Given the description of an element on the screen output the (x, y) to click on. 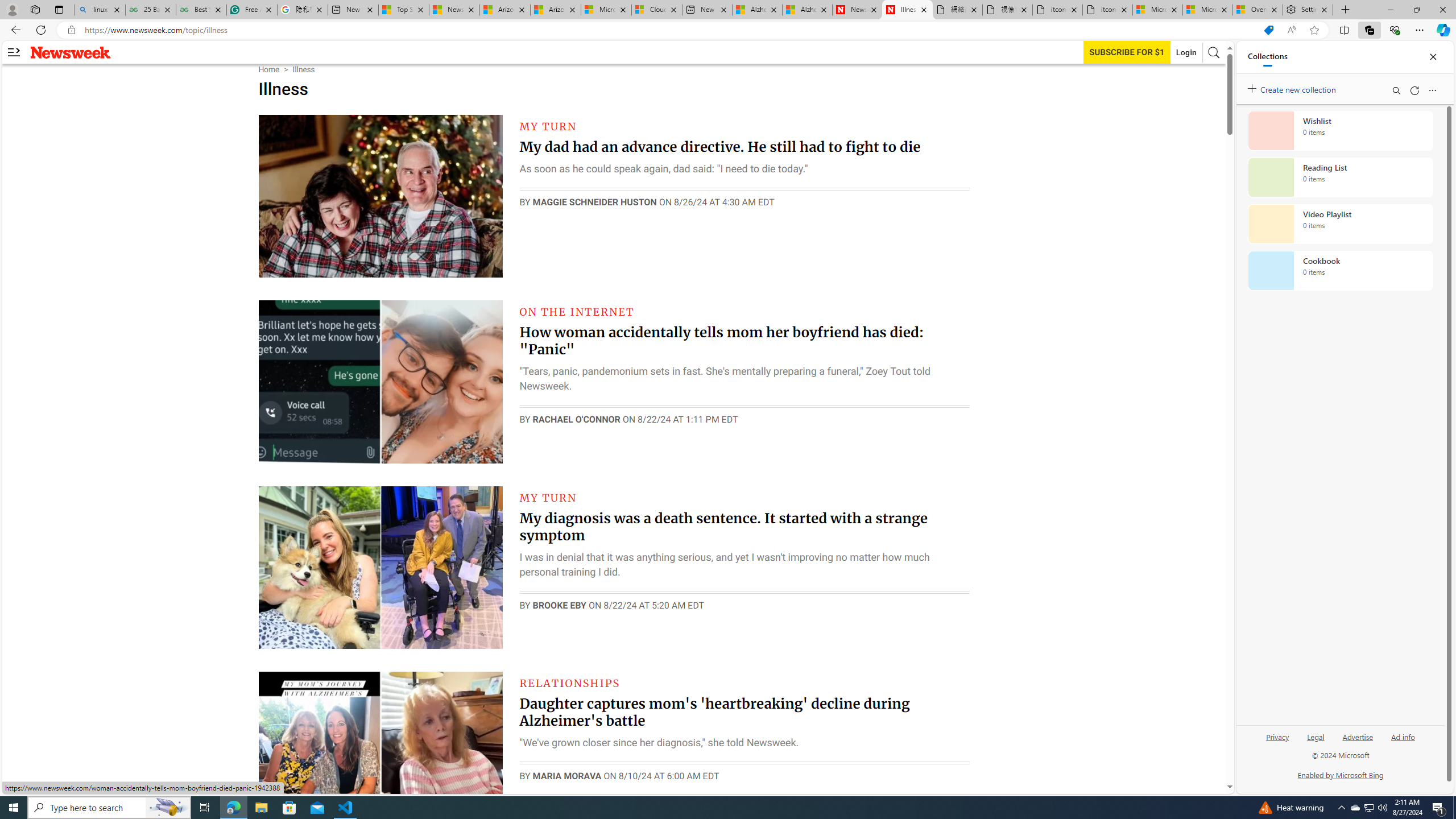
Newsweek logo (70, 51)
Login (1186, 51)
Reading List collection, 0 items (1339, 177)
AutomationID: search-btn (1213, 51)
Newsweek logo (70, 51)
Overview (1257, 9)
Cloud Computing Services | Microsoft Azure (656, 9)
